Given the description of an element on the screen output the (x, y) to click on. 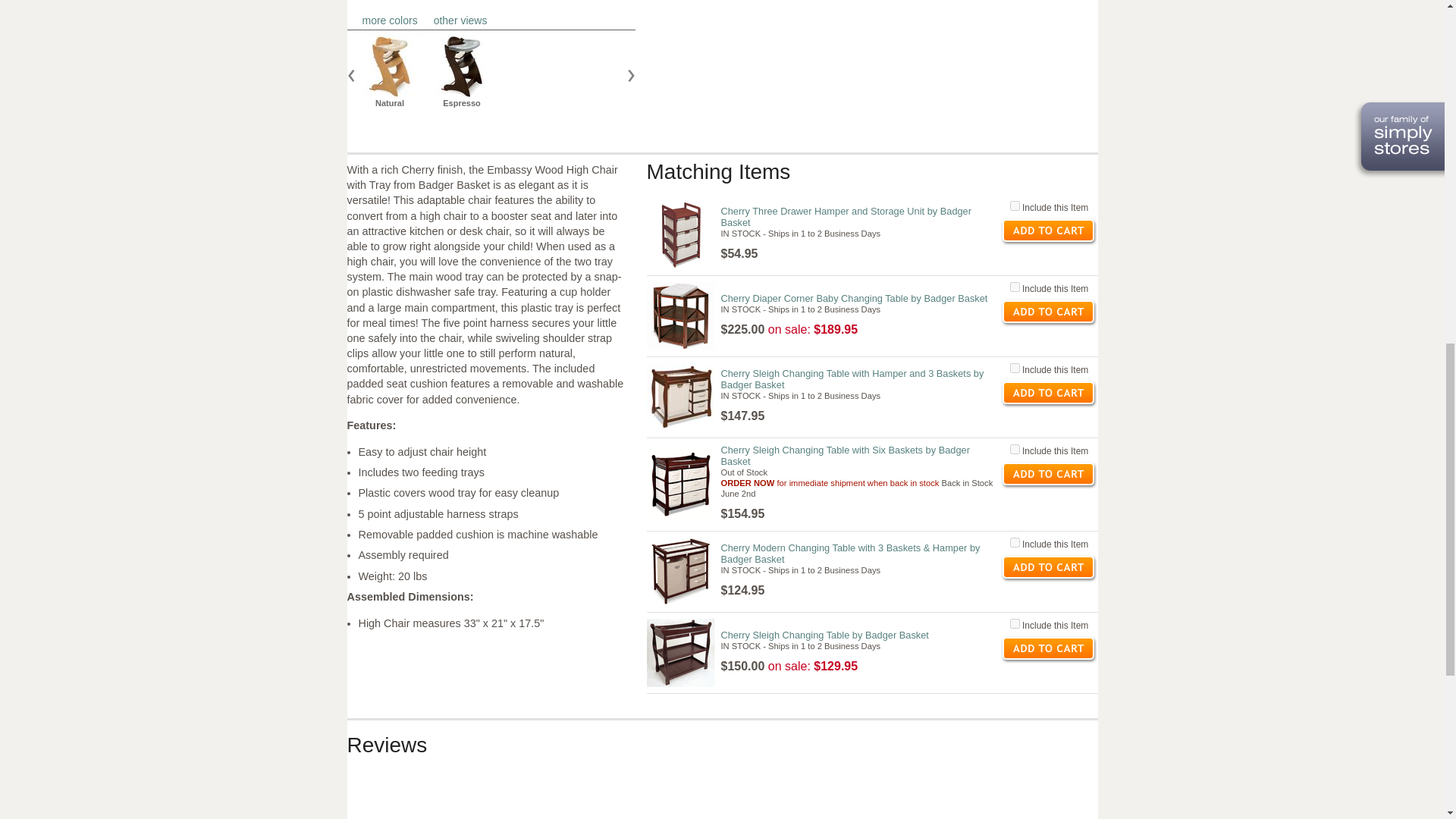
106113 (1015, 286)
106115 (1015, 368)
106116 (1015, 449)
106111 (1015, 623)
106123 (1015, 205)
106118 (496, 70)
